Given the description of an element on the screen output the (x, y) to click on. 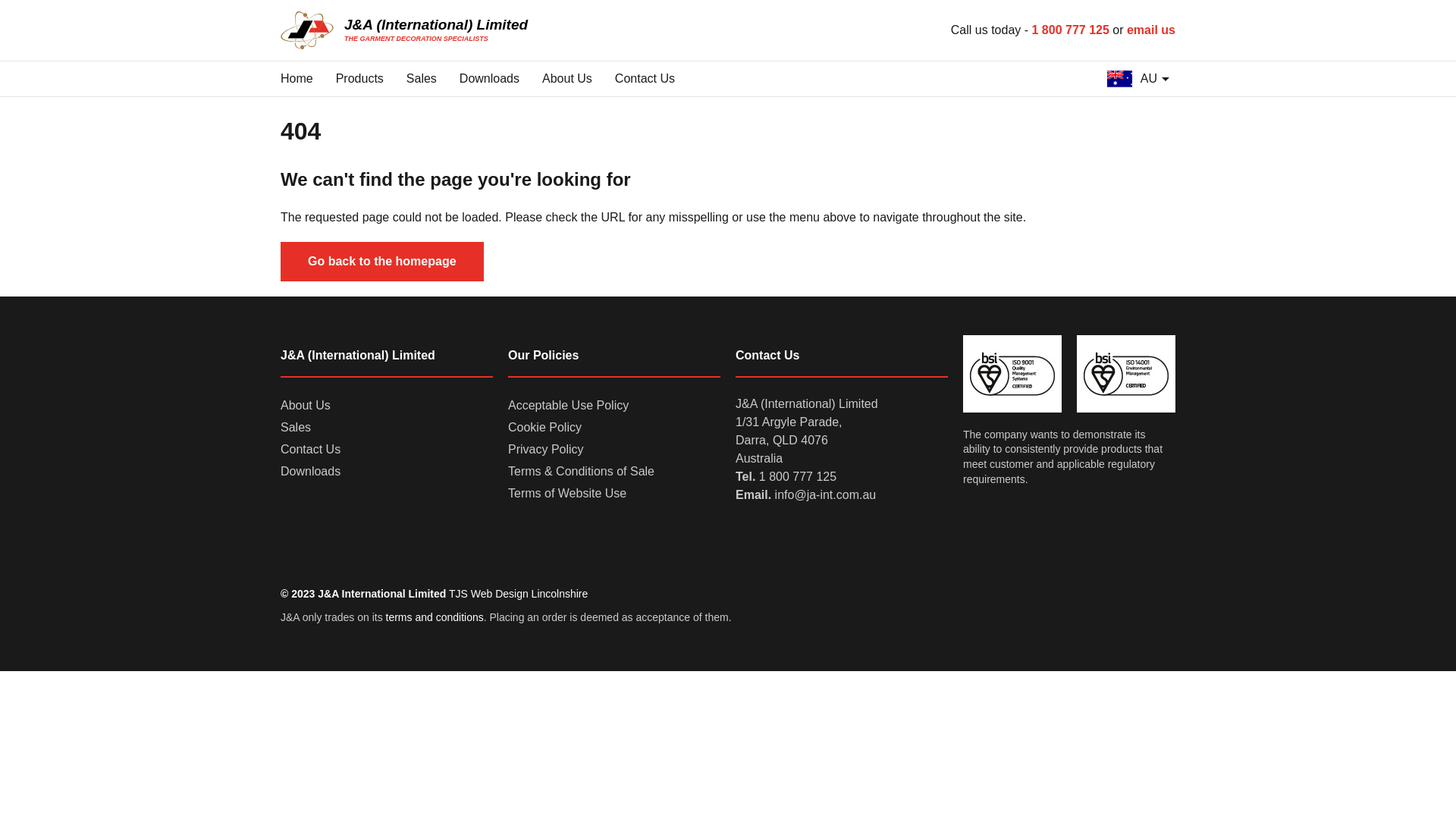
AU Element type: text (1137, 78)
Acceptable Use Policy Element type: text (568, 406)
Contact Us Element type: text (310, 450)
Go back to the homepage Element type: text (381, 261)
Terms of Website Use Element type: text (567, 494)
About Us Element type: text (566, 78)
Downloads Element type: text (310, 472)
Home Element type: text (296, 78)
Cookie Policy Element type: text (544, 428)
1 800 777 125 Element type: text (1070, 30)
email us Element type: text (1150, 29)
1 800 777 125 Element type: text (797, 476)
Sales Element type: text (421, 78)
terms and conditions Element type: text (434, 617)
Privacy Policy Element type: text (545, 450)
Contact Us Element type: text (644, 78)
Downloads Element type: text (489, 78)
Web Design Lincolnshire Element type: text (529, 593)
About Us Element type: text (305, 406)
Sales Element type: text (295, 428)
info@ja-int.com.au Element type: text (825, 494)
Products Element type: text (359, 78)
Terms & Conditions of Sale Element type: text (581, 472)
